Given the description of an element on the screen output the (x, y) to click on. 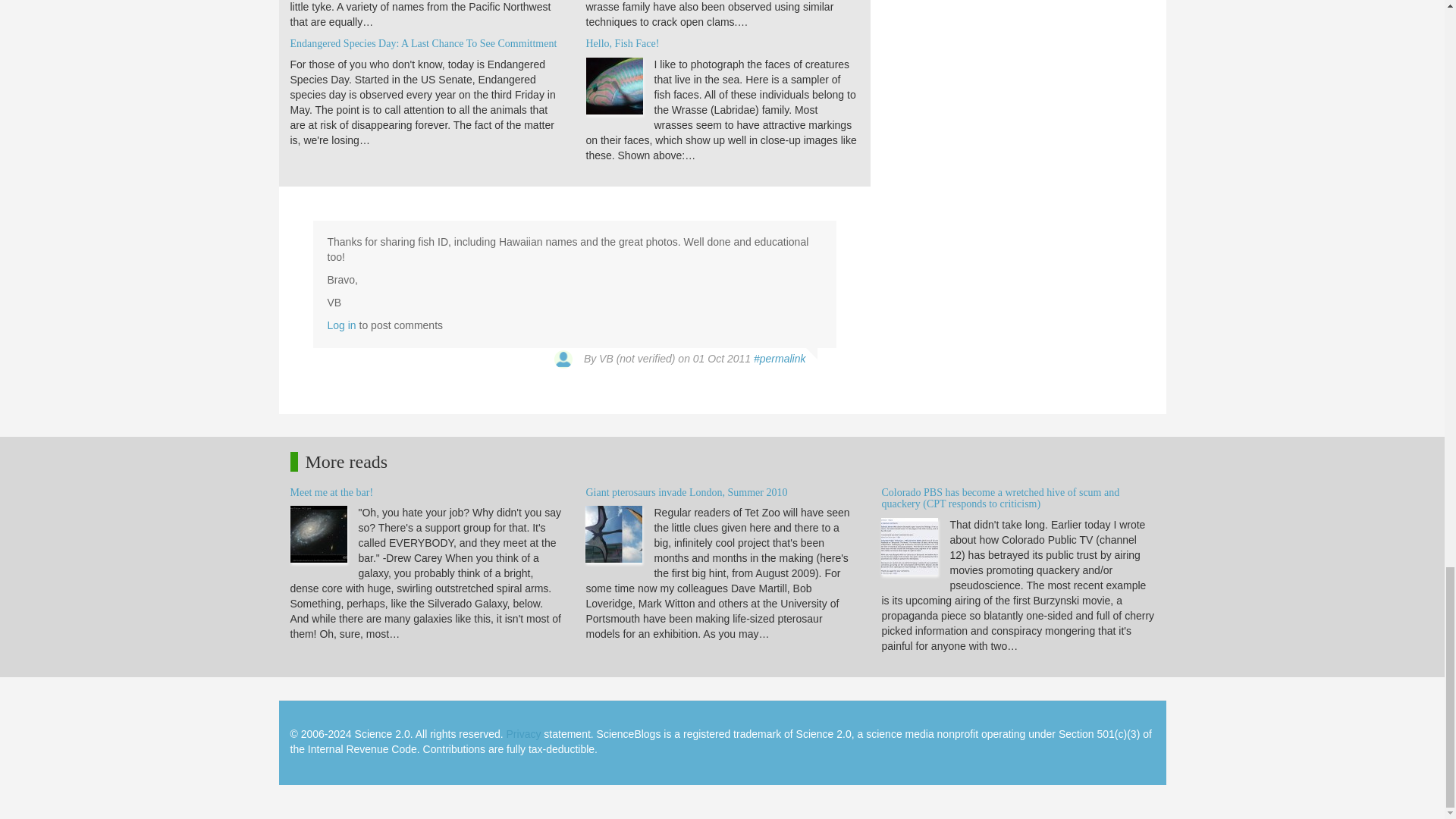
Log in (341, 325)
Hello, Fish Face! (622, 43)
Endangered Species Day: A Last Chance To See Committment (422, 43)
